Given the description of an element on the screen output the (x, y) to click on. 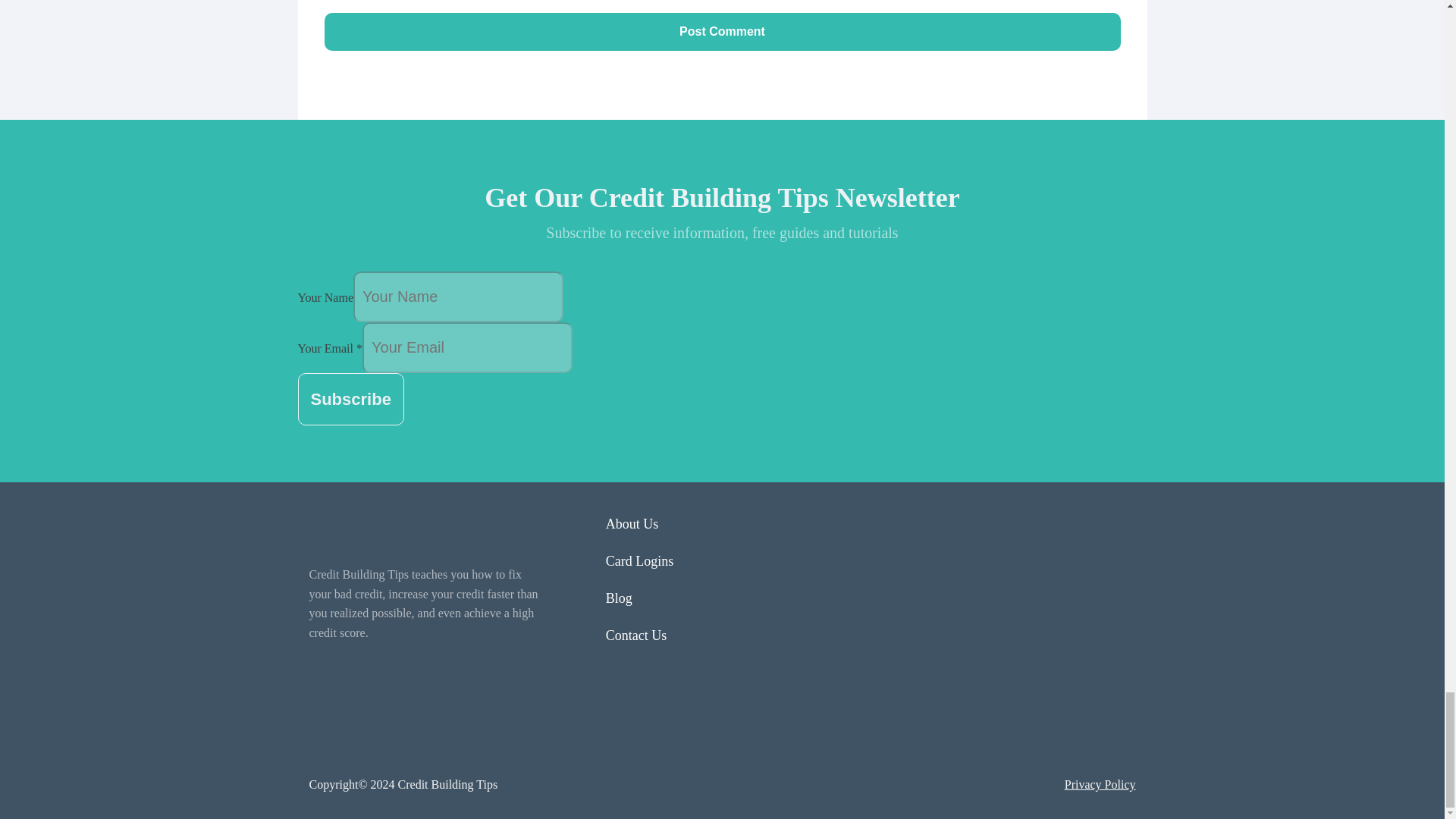
Subscribe (350, 399)
Card Logins (639, 569)
Privacy Policy (1099, 784)
Contact Us (639, 642)
Post Comment (722, 31)
Post Comment (722, 31)
About Us (639, 531)
Blog (639, 606)
